Given the description of an element on the screen output the (x, y) to click on. 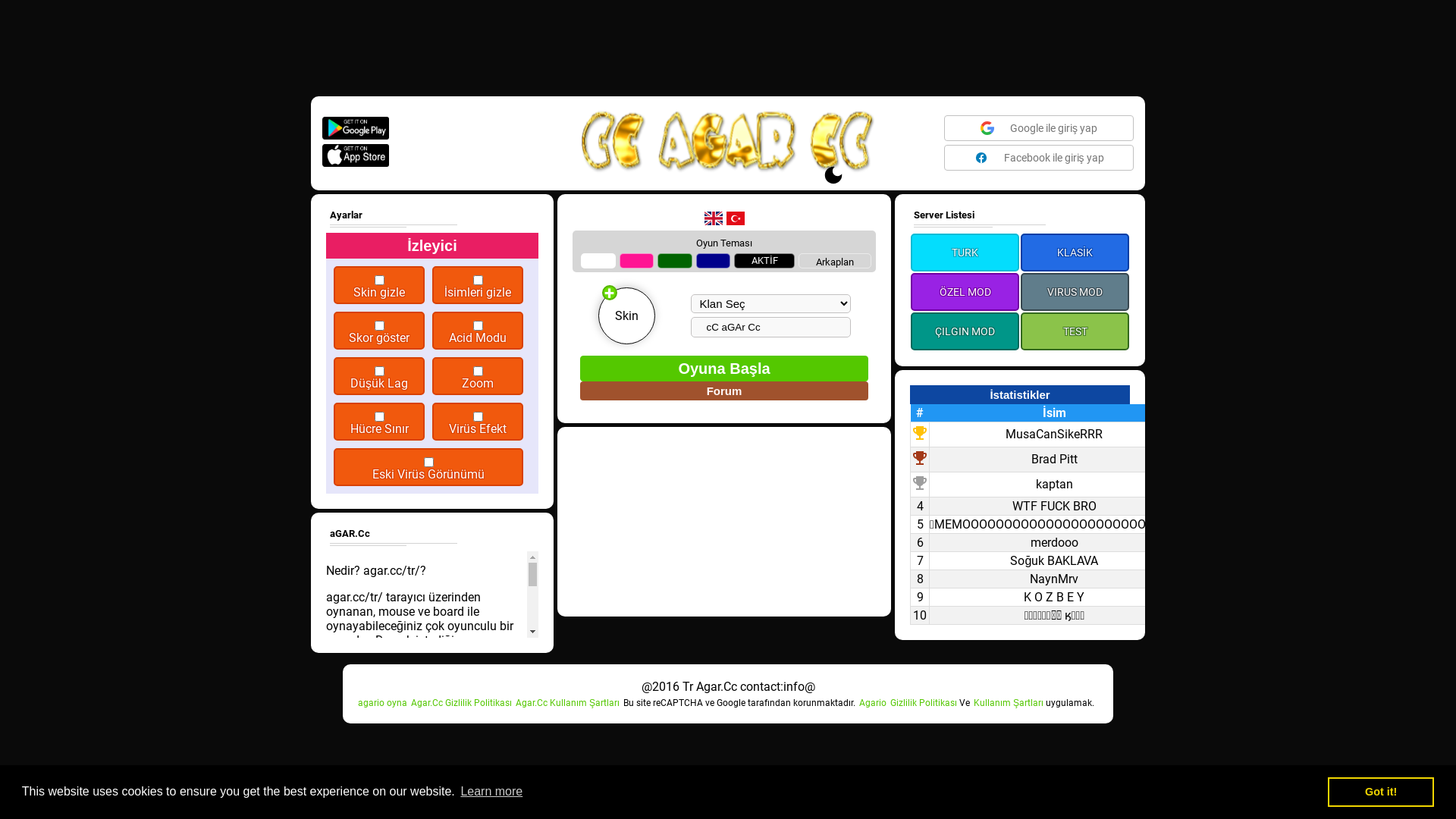
Forum Element type: text (724, 403)
Got it! Element type: text (1380, 791)
Learn more Element type: text (491, 791)
Forum Element type: text (724, 389)
agario oyna Element type: text (382, 702)
Agario Element type: text (872, 702)
Anti Lag & Skin Element type: hover (21, 798)
